Given the description of an element on the screen output the (x, y) to click on. 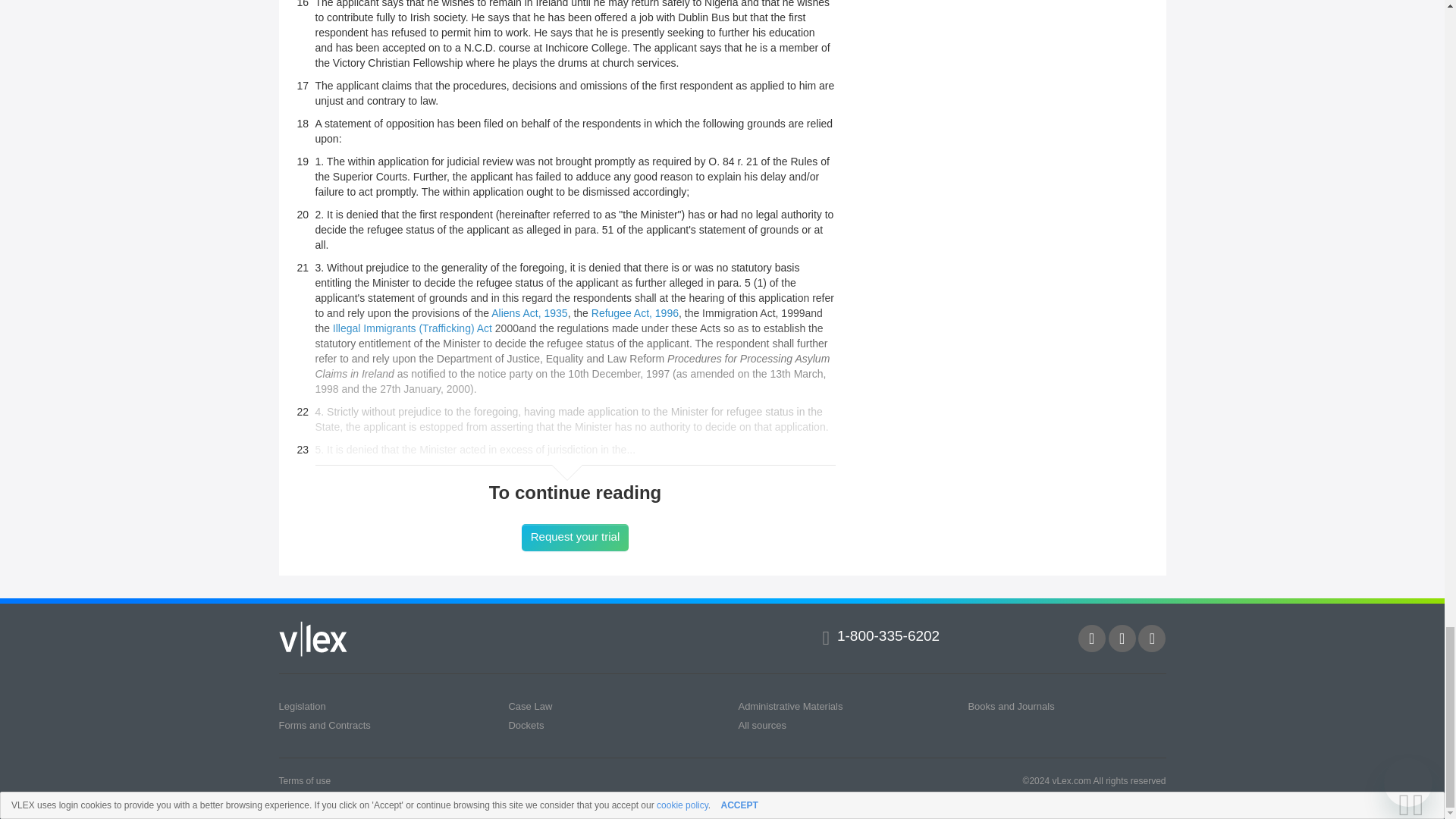
Case Law (529, 706)
Forms and Contracts (325, 725)
vLex (313, 638)
Dockets (525, 725)
Books and Journals (1011, 706)
Terms of use (305, 780)
Administrative Materials (790, 706)
All sources (762, 725)
Legislation (302, 706)
